Given the description of an element on the screen output the (x, y) to click on. 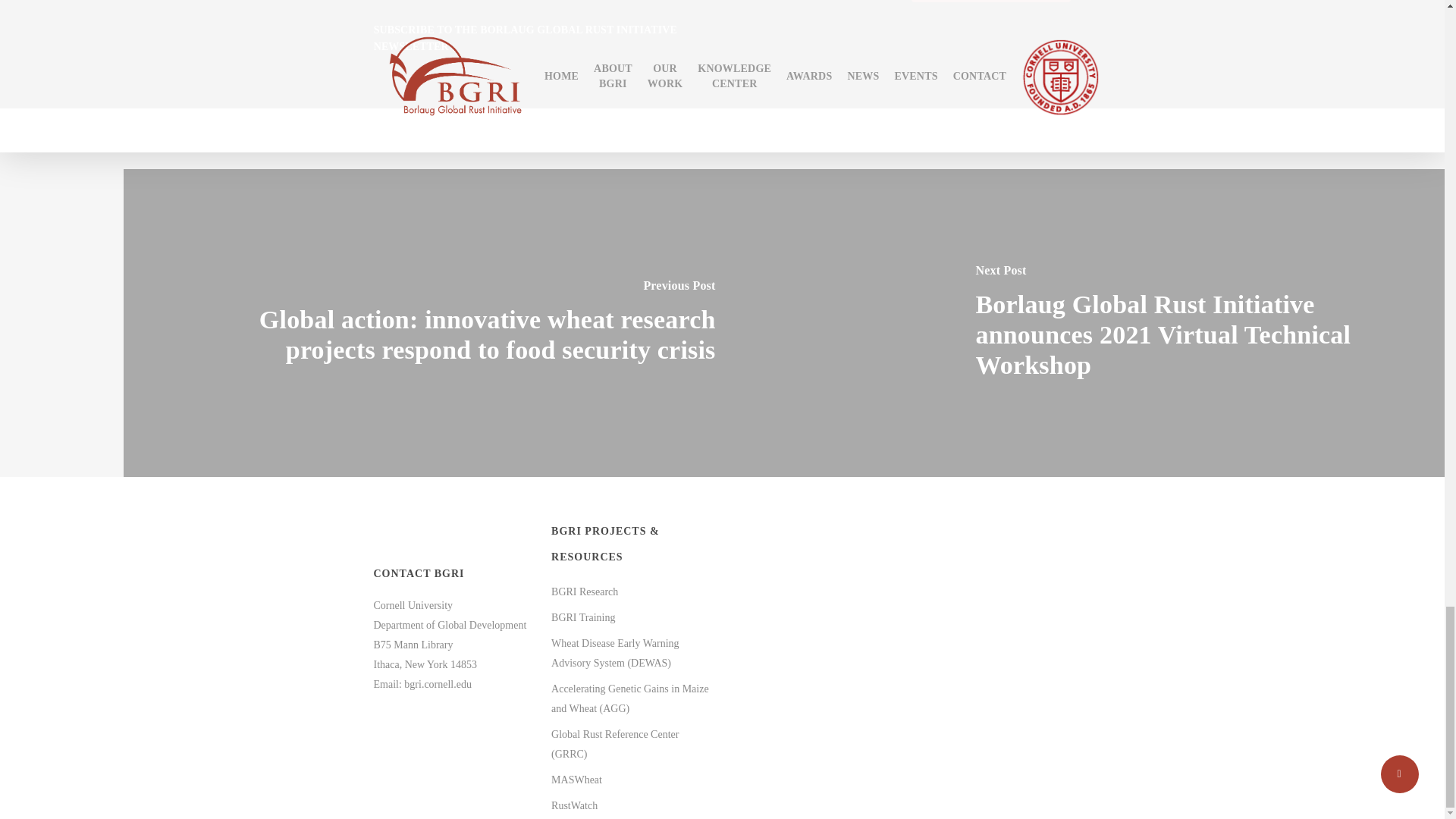
Department of Global Development (448, 624)
bgri.cornell.edu (437, 683)
